Given the description of an element on the screen output the (x, y) to click on. 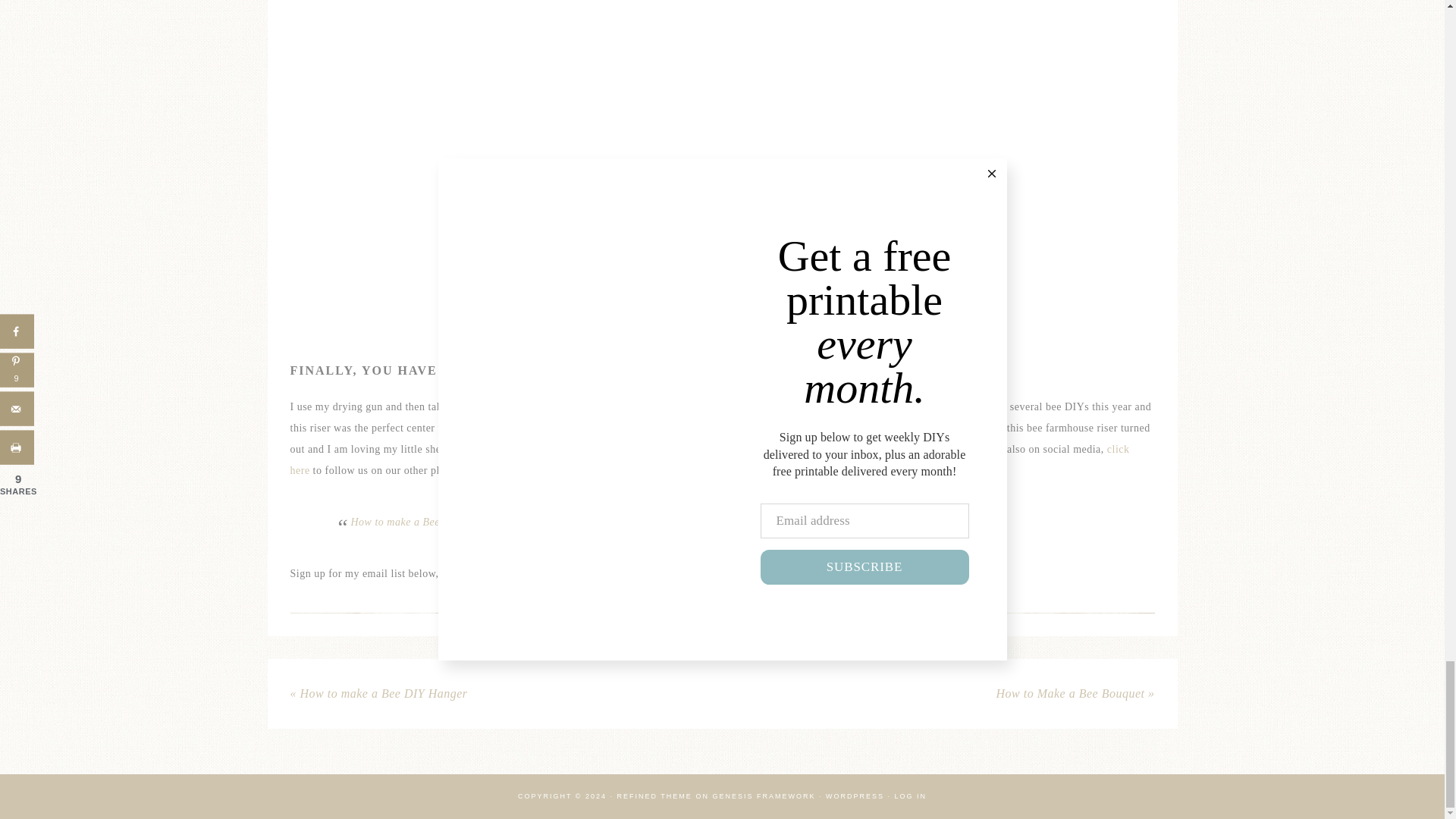
LOG IN (909, 796)
REFINED THEME (655, 796)
blog (820, 449)
GENESIS FRAMEWORK (763, 796)
click here (709, 459)
How to make a Bee DIY Hanger (423, 521)
WORDPRESS (854, 796)
